Given the description of an element on the screen output the (x, y) to click on. 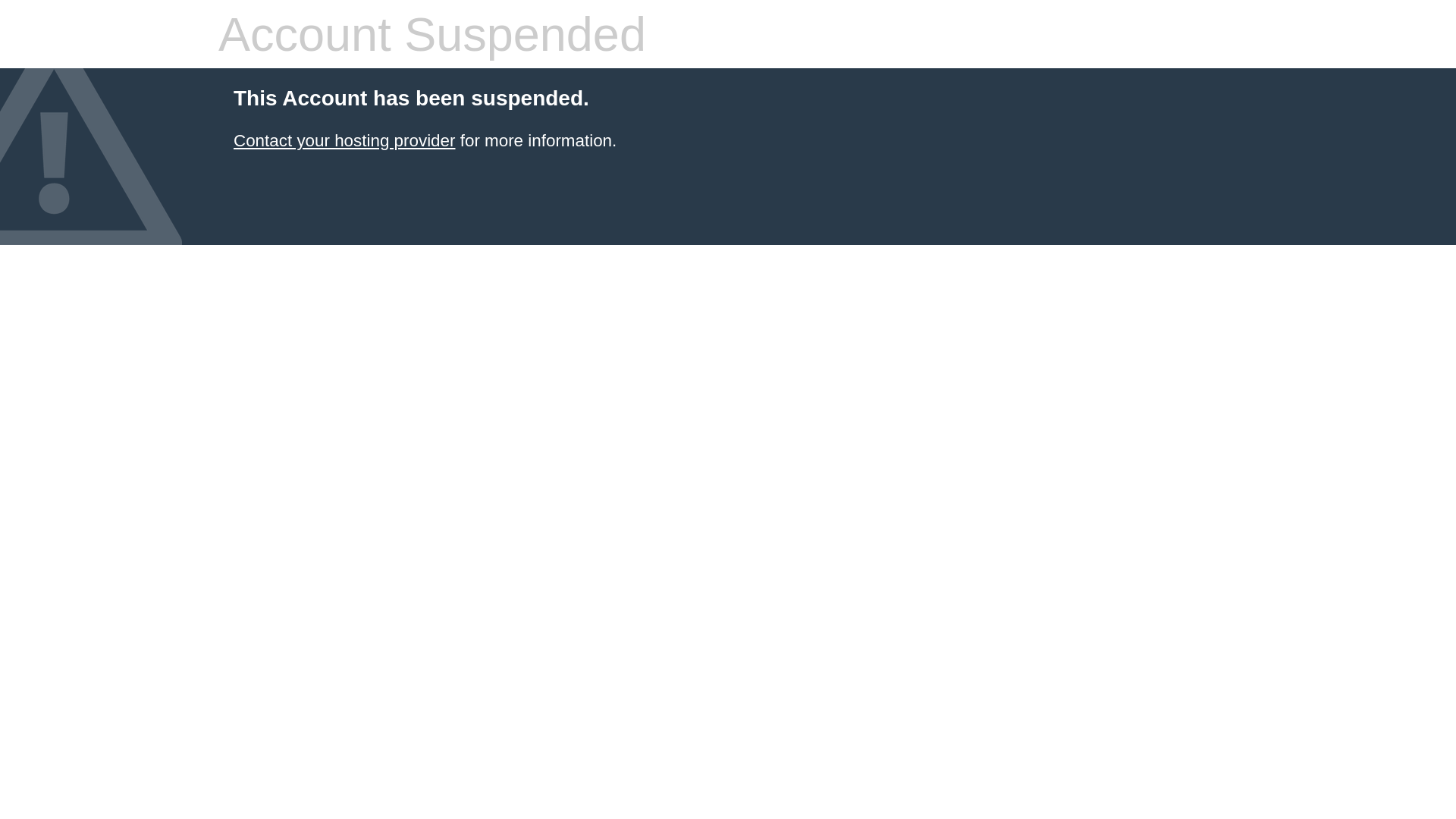
Contact your hosting provider Element type: text (344, 140)
